Given the description of an element on the screen output the (x, y) to click on. 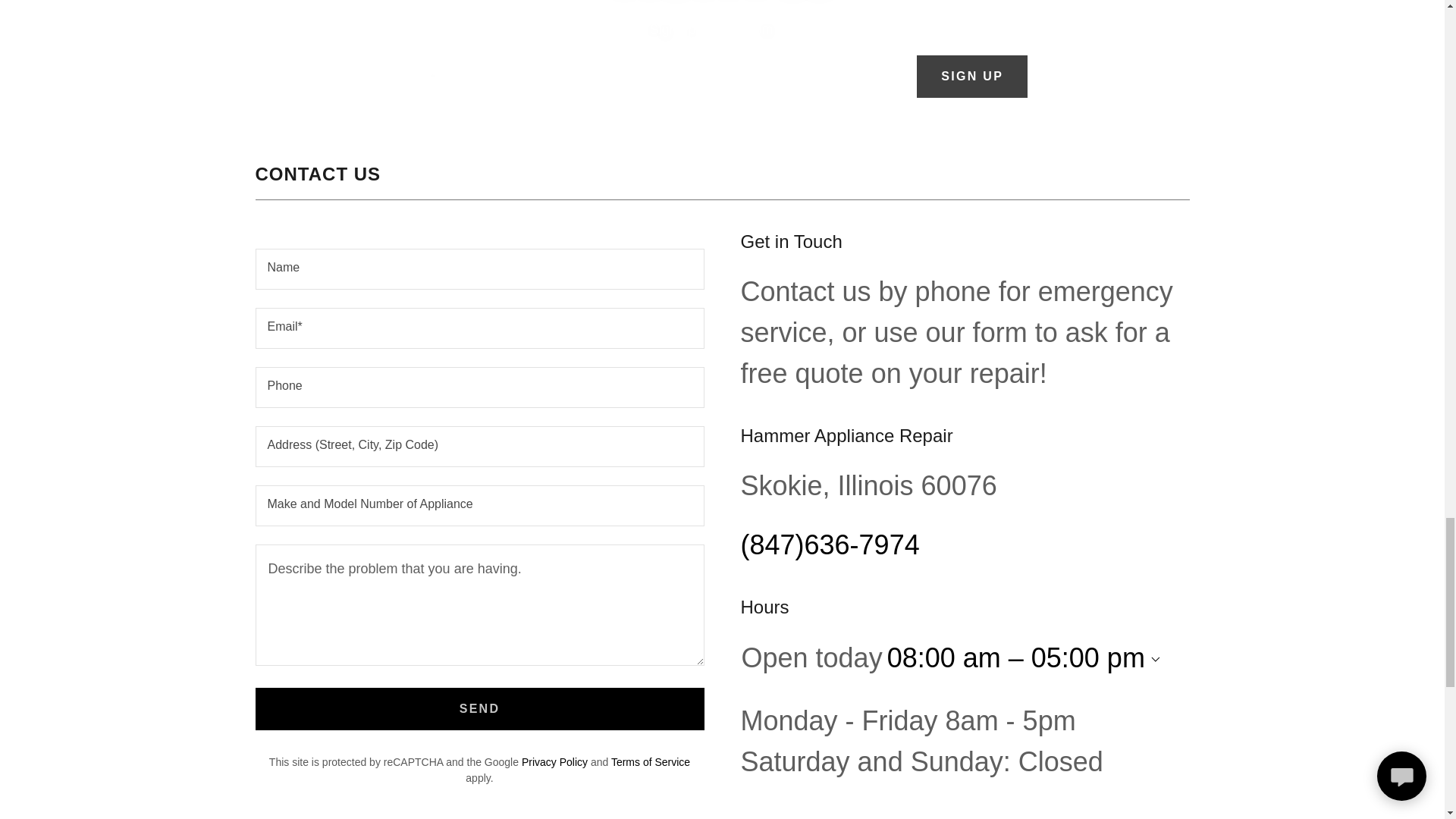
Terms of Service (650, 761)
SIGN UP (972, 76)
Privacy Policy (554, 761)
SEND (478, 708)
